Given the description of an element on the screen output the (x, y) to click on. 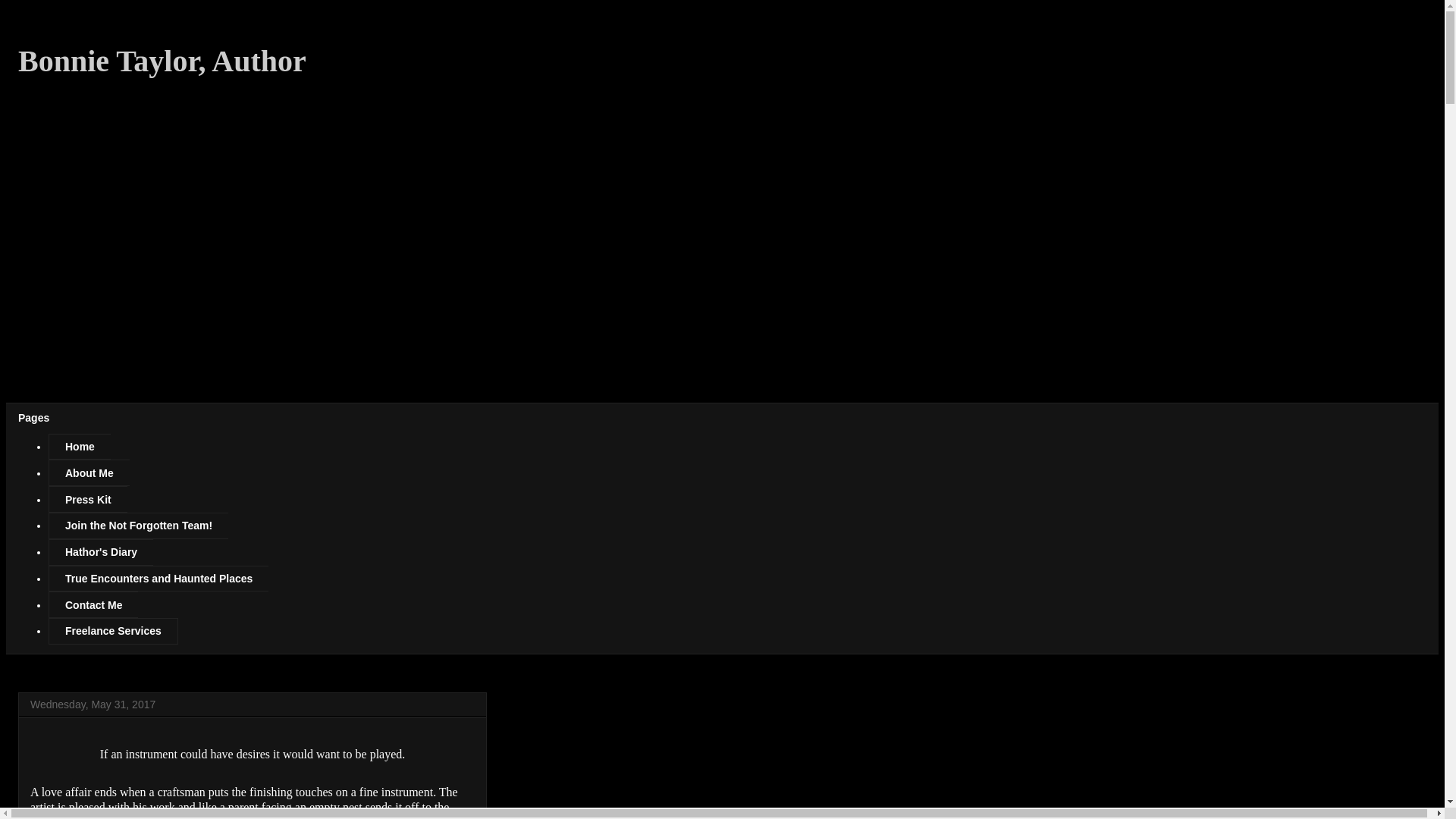
Press Kit (88, 499)
Join the Not Forgotten Team! (138, 525)
True Encounters and Haunted Places (157, 578)
Contact Me (93, 604)
About Me (88, 472)
Hathor's Diary (100, 551)
Bonnie Taylor, Author (161, 60)
Home (79, 447)
Freelance Services (112, 631)
